Given the description of an element on the screen output the (x, y) to click on. 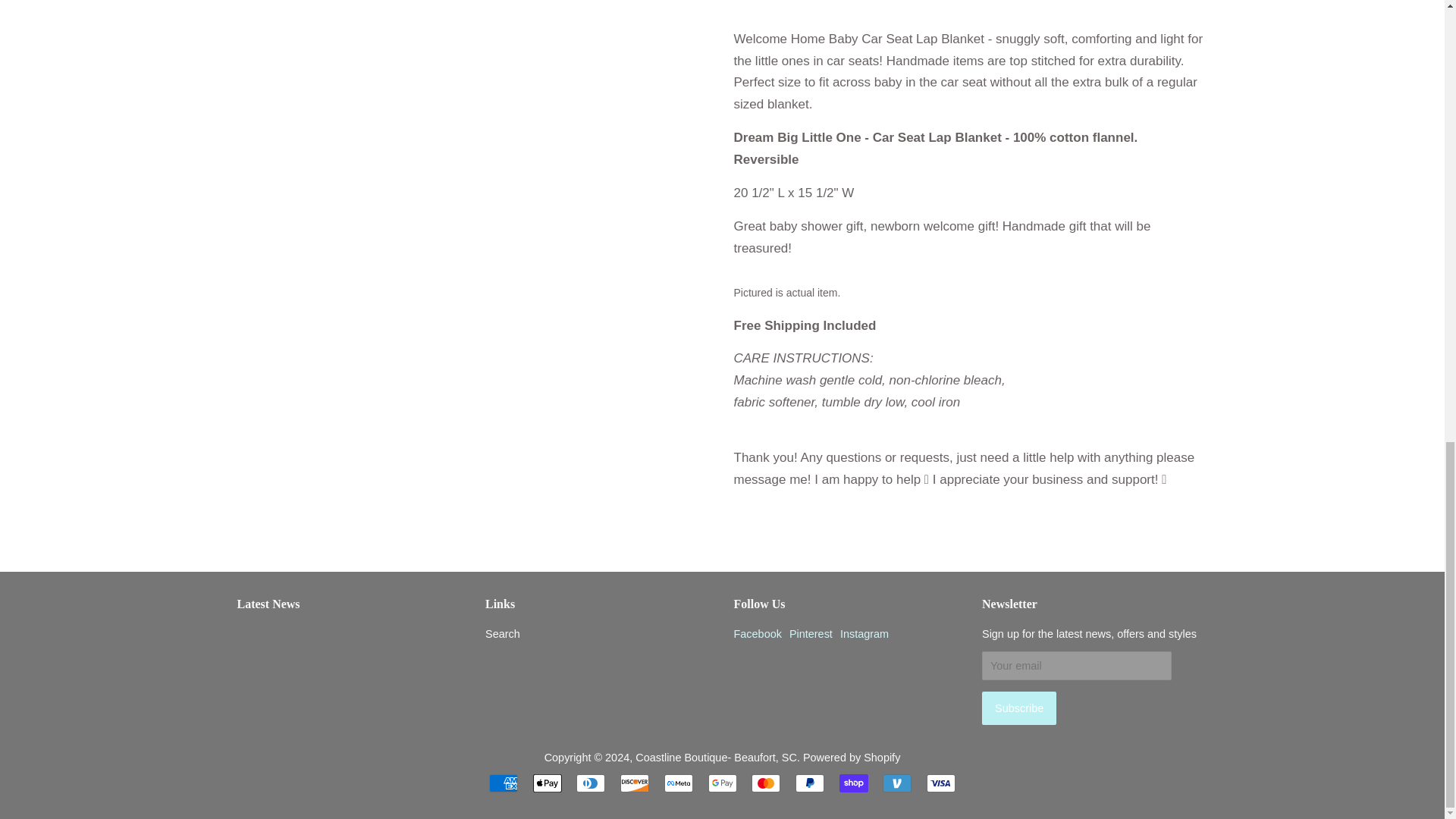
American Express (503, 782)
Subscribe (1019, 707)
Meta Pay (678, 782)
Apple Pay (547, 782)
Coastline Boutique- Beaufort, SC on Pinterest (810, 633)
Pinterest (810, 633)
Search (501, 633)
Coastline Boutique- Beaufort, SC (715, 757)
PayPal (809, 782)
Instagram (864, 633)
